Given the description of an element on the screen output the (x, y) to click on. 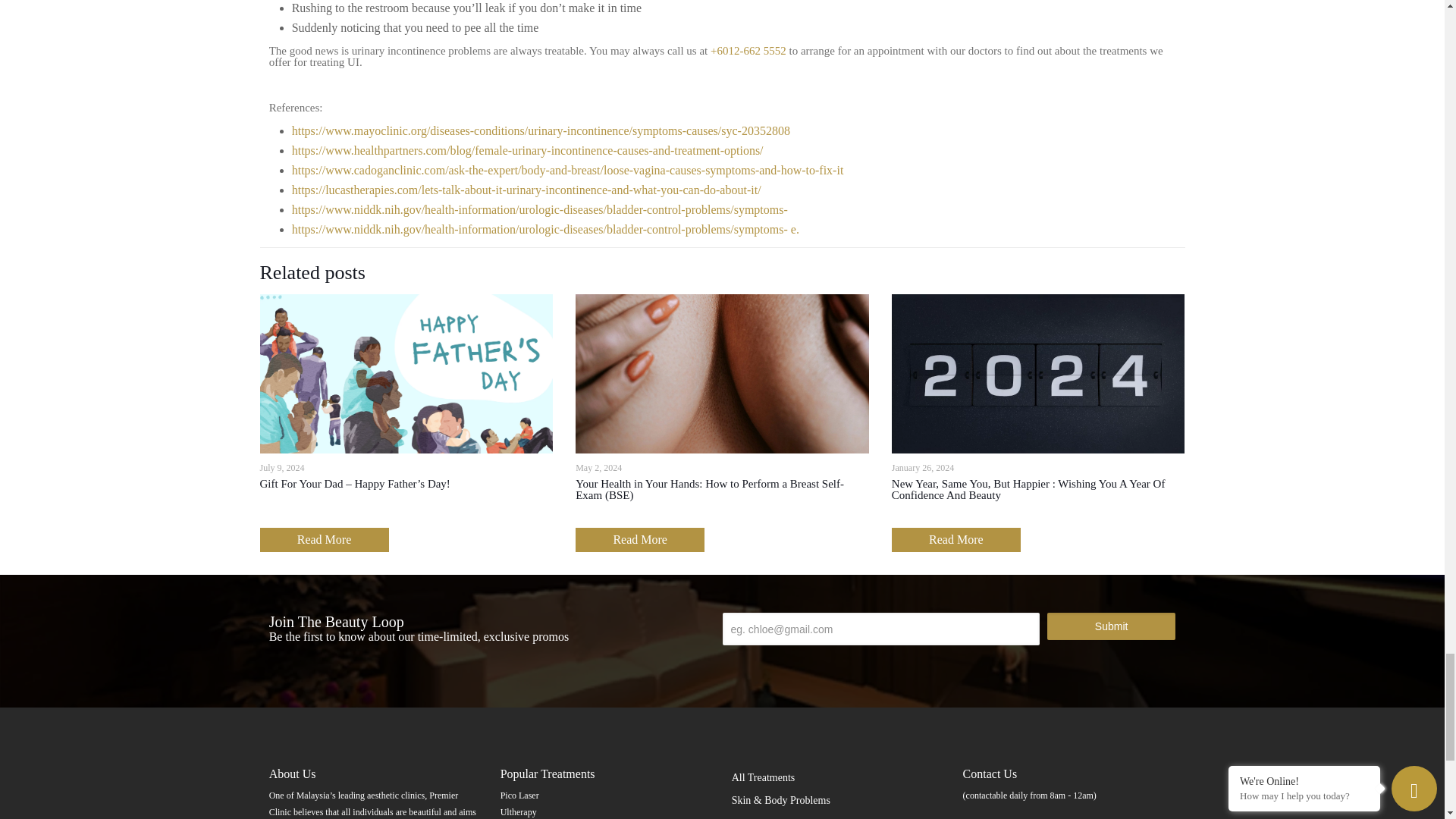
Submit (1110, 625)
